Given the description of an element on the screen output the (x, y) to click on. 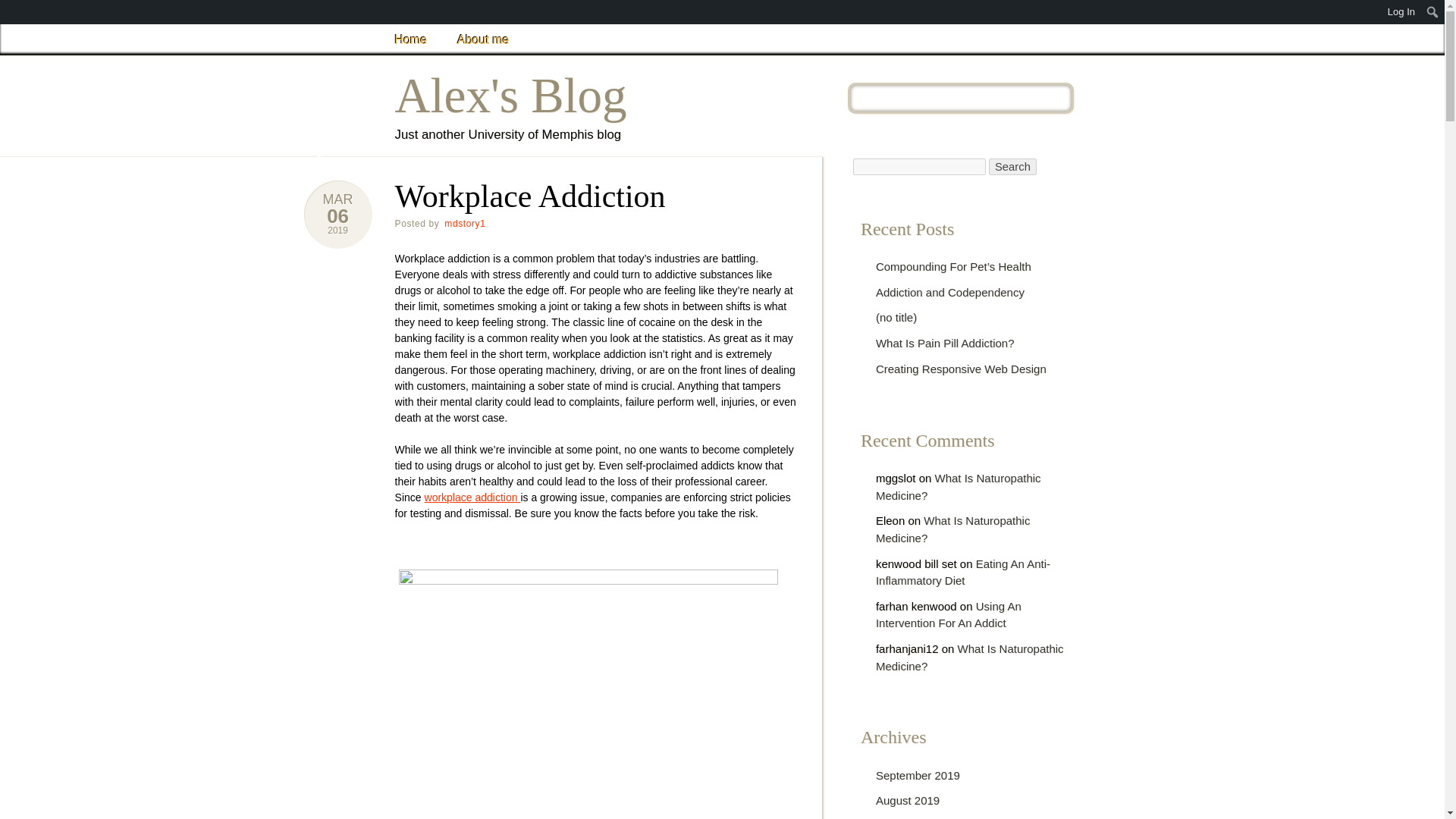
Workplace Addiction (337, 230)
MAR (338, 199)
About me (483, 39)
mdstory1 (464, 223)
Home (411, 39)
Search (1012, 166)
Alex's Blog (510, 94)
workplace addiction  (473, 497)
2019 (337, 230)
Workplace Addiction (337, 215)
